Given the description of an element on the screen output the (x, y) to click on. 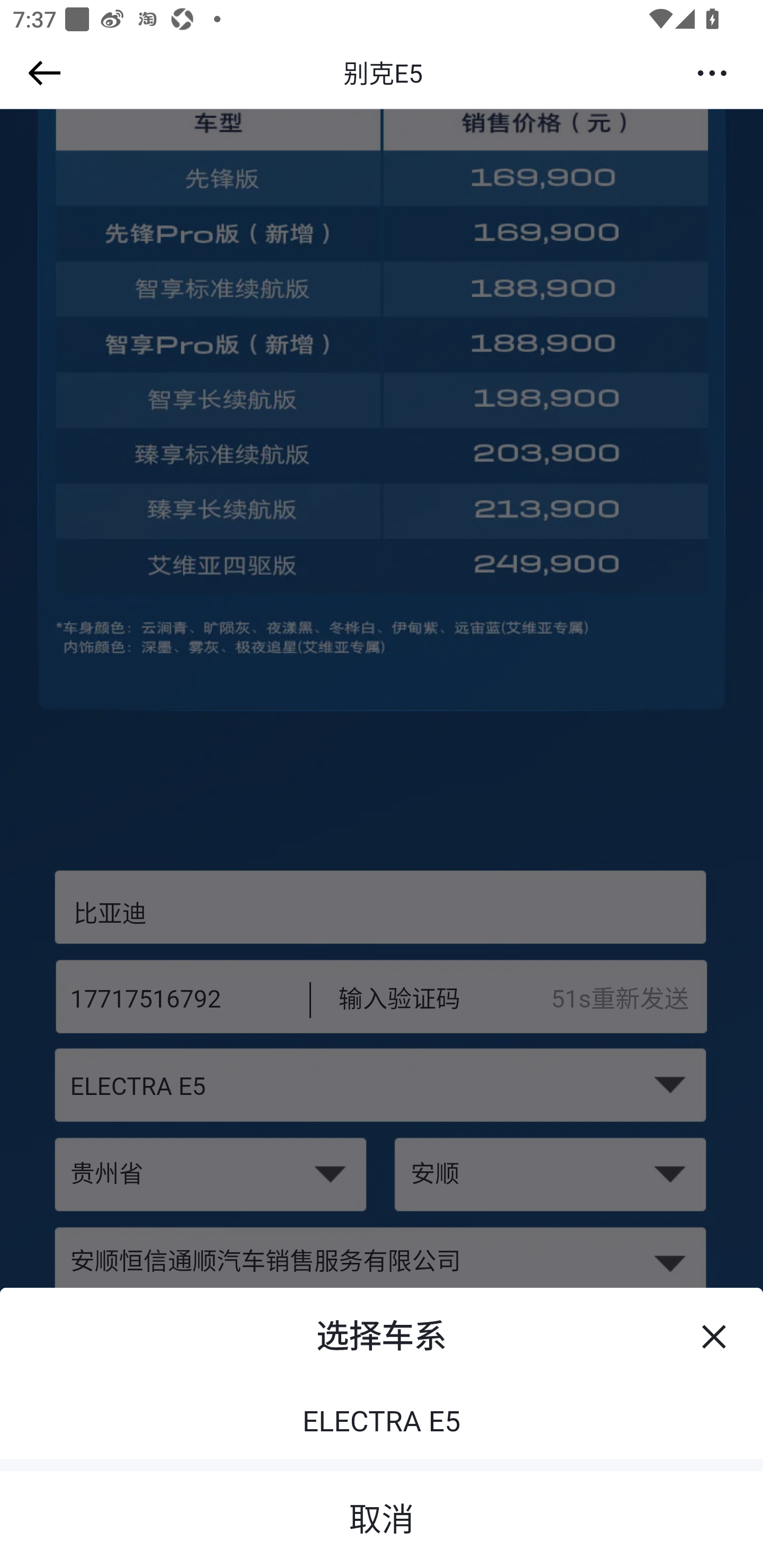
 (41, 72)
ELECTRA E5 (381, 1422)
取消 (381, 1513)
